Given the description of an element on the screen output the (x, y) to click on. 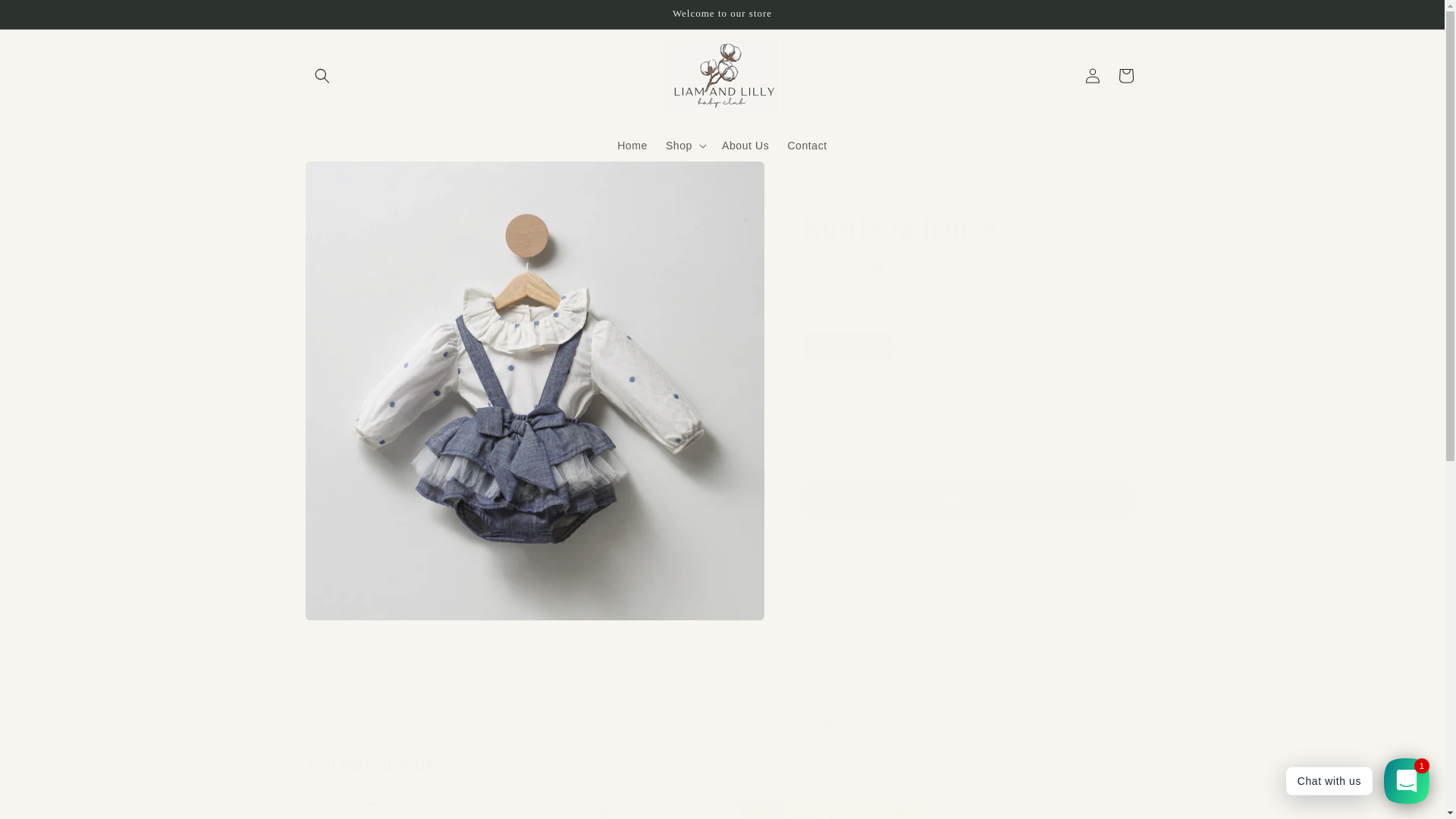
Skip to content (45, 17)
1 (856, 445)
Home (632, 144)
